Given the description of an element on the screen output the (x, y) to click on. 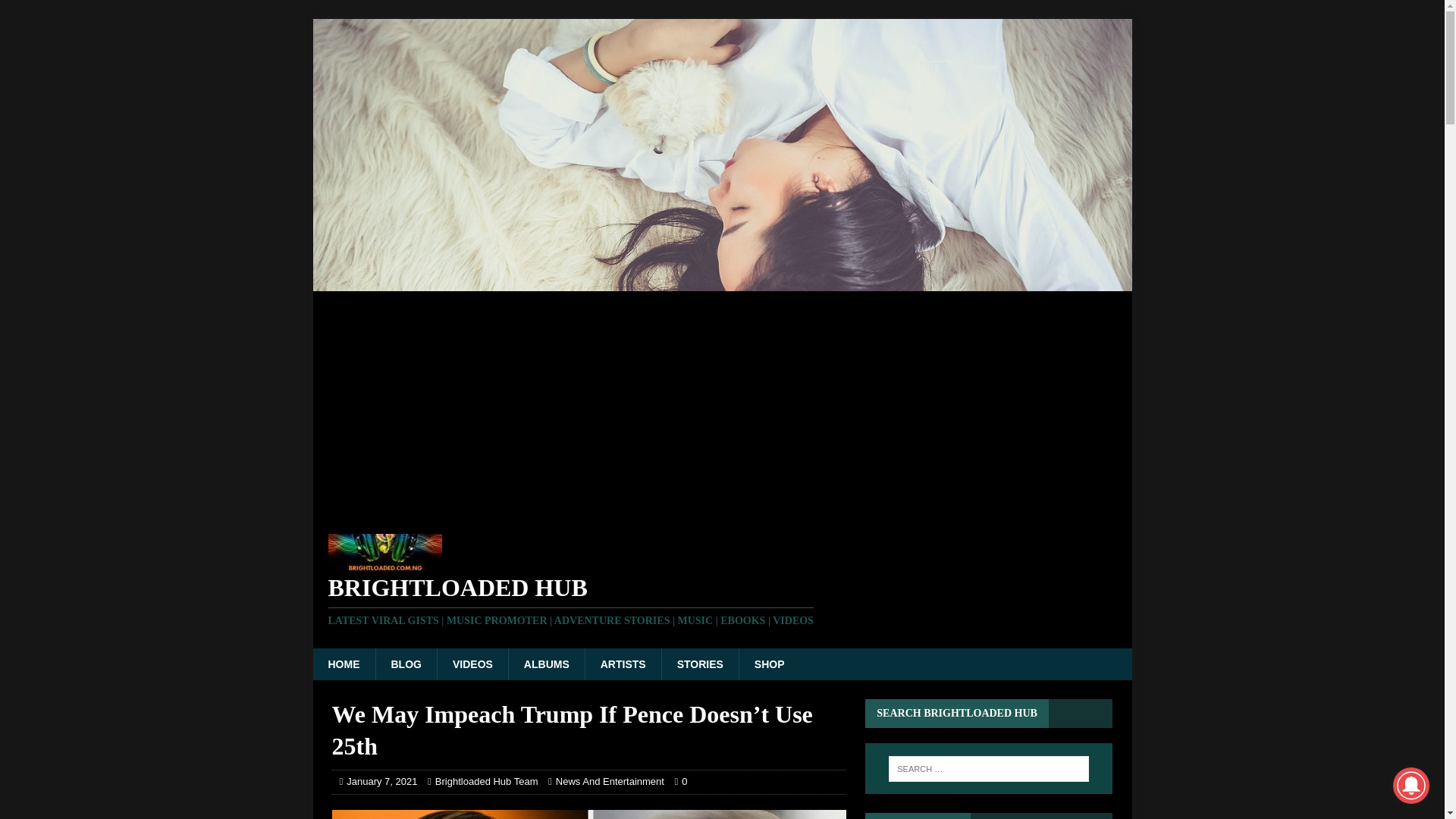
0 (684, 781)
Brightloaded Hub (721, 600)
SHOP (768, 664)
HOME (343, 664)
ALBUMS (546, 664)
STORIES (699, 664)
News And Entertainment (609, 781)
Brightloaded Hub (722, 282)
ARTISTS (623, 664)
Brightloaded Hub Team (486, 781)
BLOG (404, 664)
0 (684, 781)
VIDEOS (472, 664)
January 7, 2021 (381, 781)
